Given the description of an element on the screen output the (x, y) to click on. 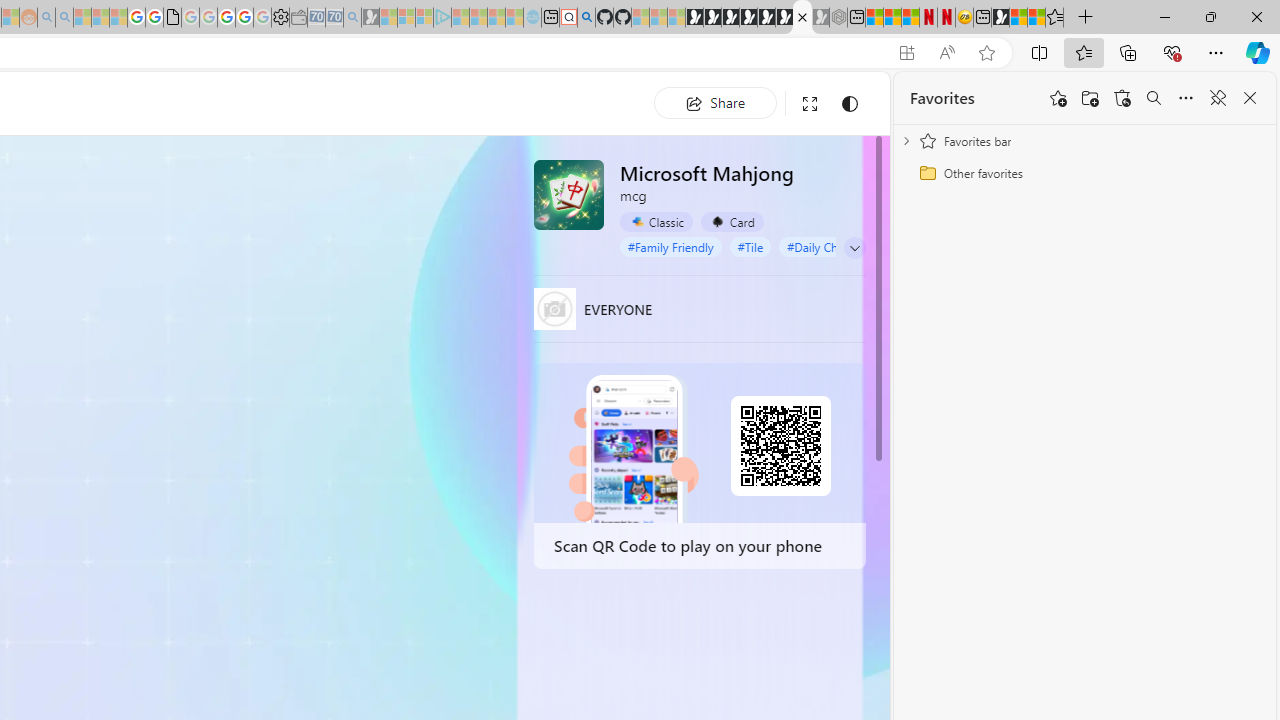
Card (732, 222)
#Daily Challenge (831, 246)
Unpin favorites (1217, 98)
Share (715, 102)
